Given the description of an element on the screen output the (x, y) to click on. 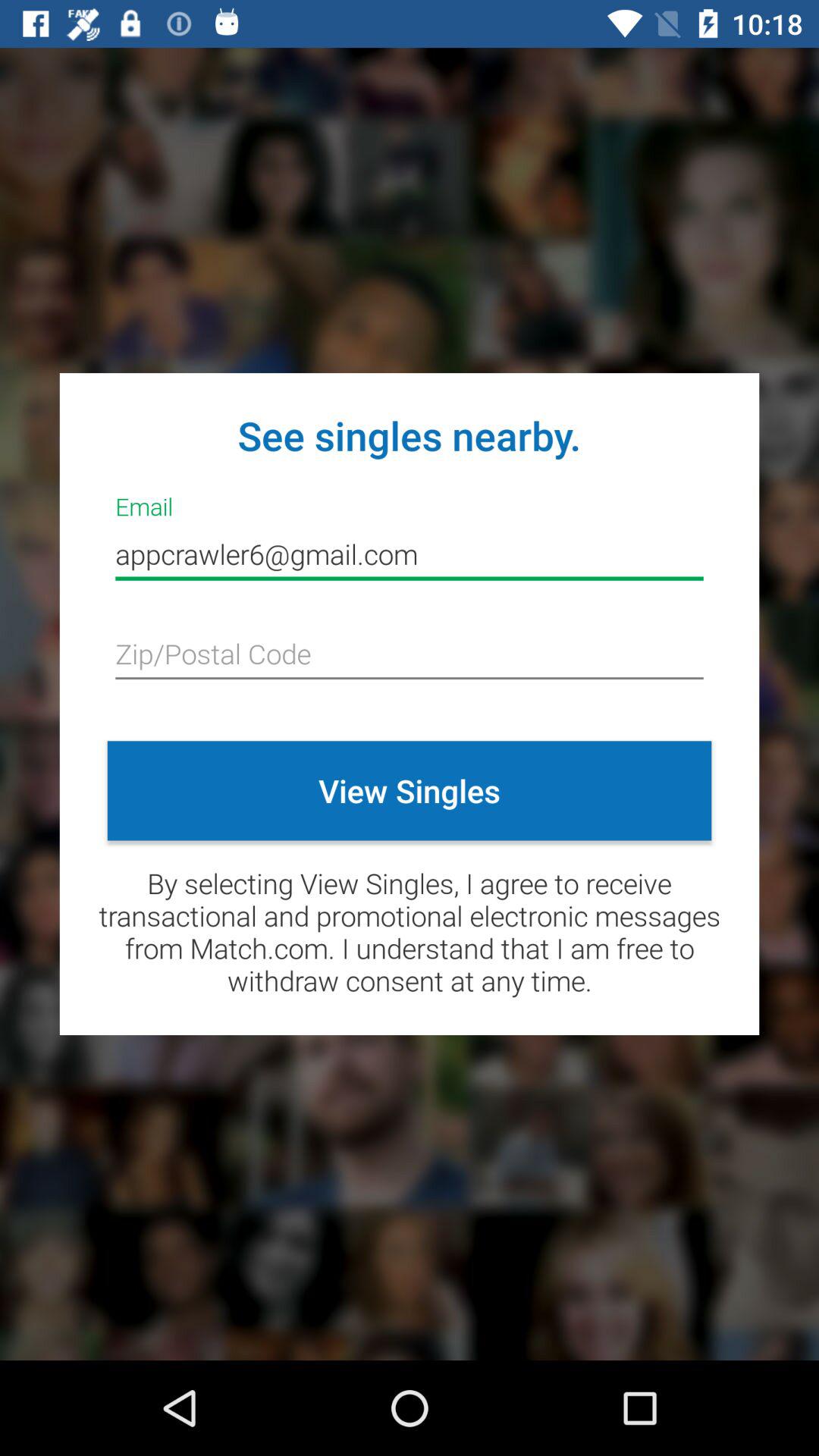
password page (409, 655)
